Given the description of an element on the screen output the (x, y) to click on. 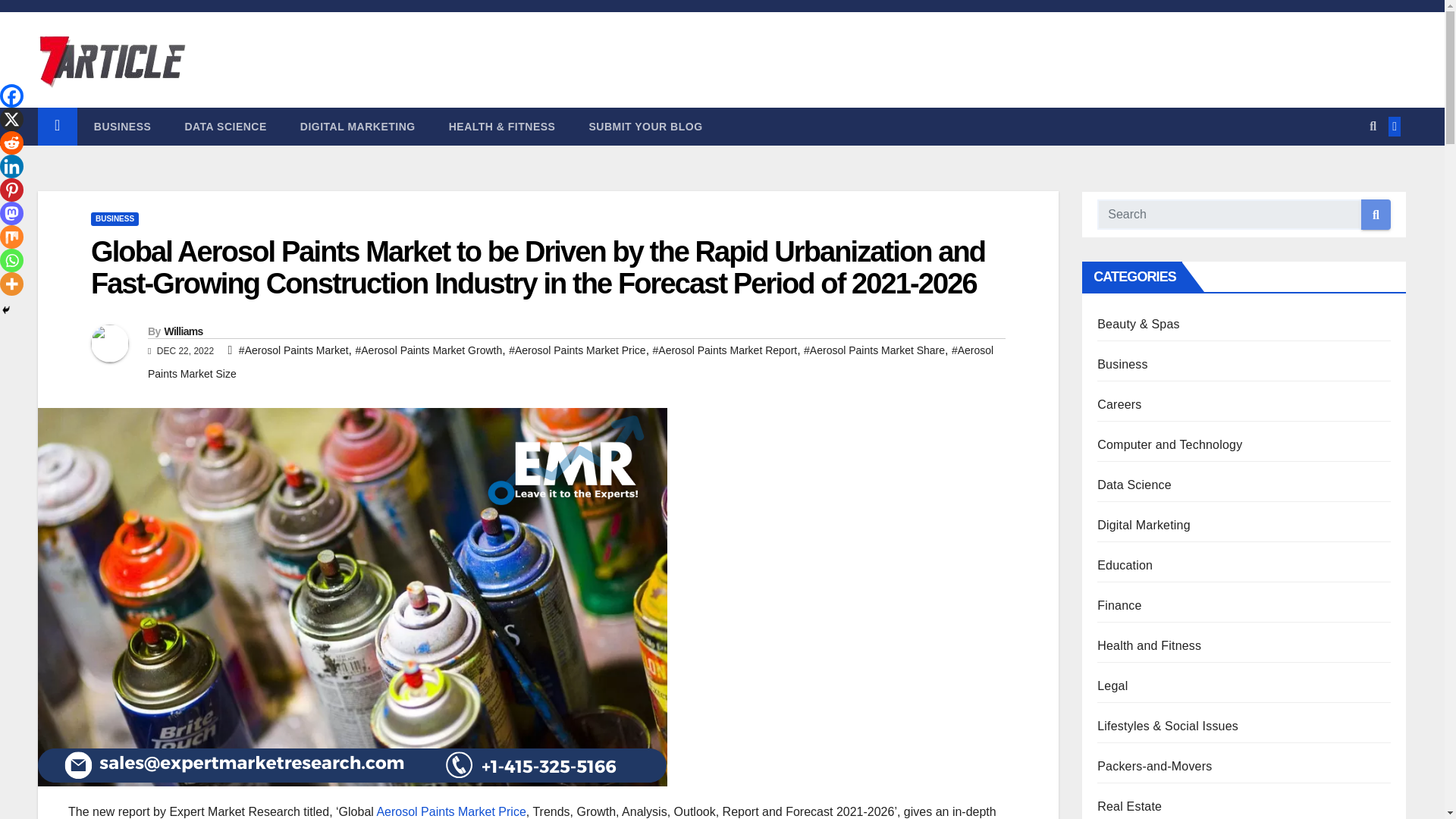
Submit Your Blog (645, 126)
Aerosol Paints Market Price (450, 811)
DATA SCIENCE (224, 126)
Williams (182, 331)
BUSINESS (114, 219)
Data Science (224, 126)
BUSINESS (122, 126)
DIGITAL MARKETING (357, 126)
